Given the description of an element on the screen output the (x, y) to click on. 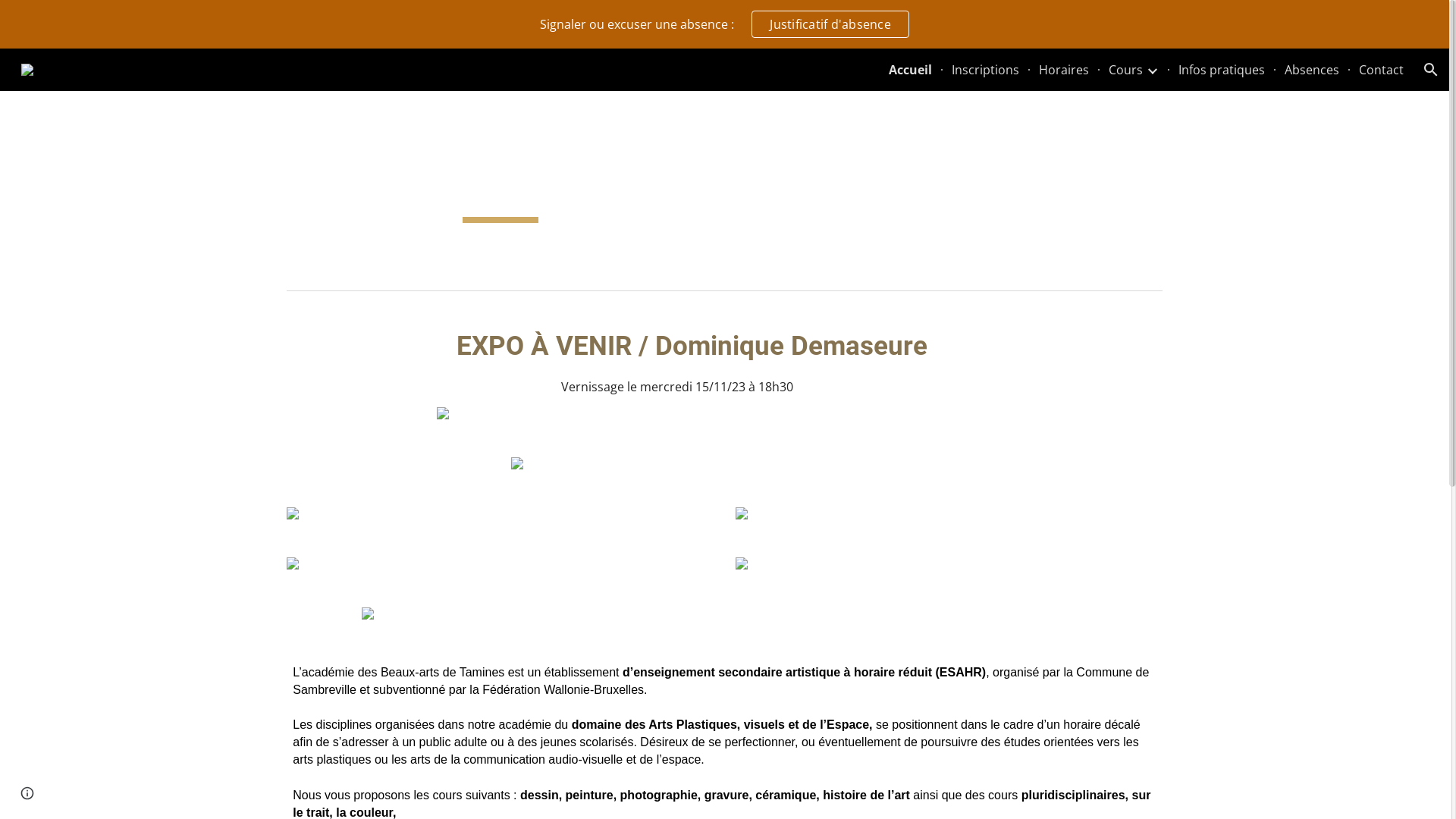
Inscriptions Element type: text (985, 69)
Cours Element type: text (1125, 69)
Horaires Element type: text (1063, 69)
Expand/Collapse Element type: hover (1151, 69)
Absences Element type: text (1311, 69)
Justificatif d'absence Element type: text (830, 24)
Accueil Element type: text (909, 69)
Infos pratiques Element type: text (1221, 69)
Contact Element type: text (1380, 69)
